Given the description of an element on the screen output the (x, y) to click on. 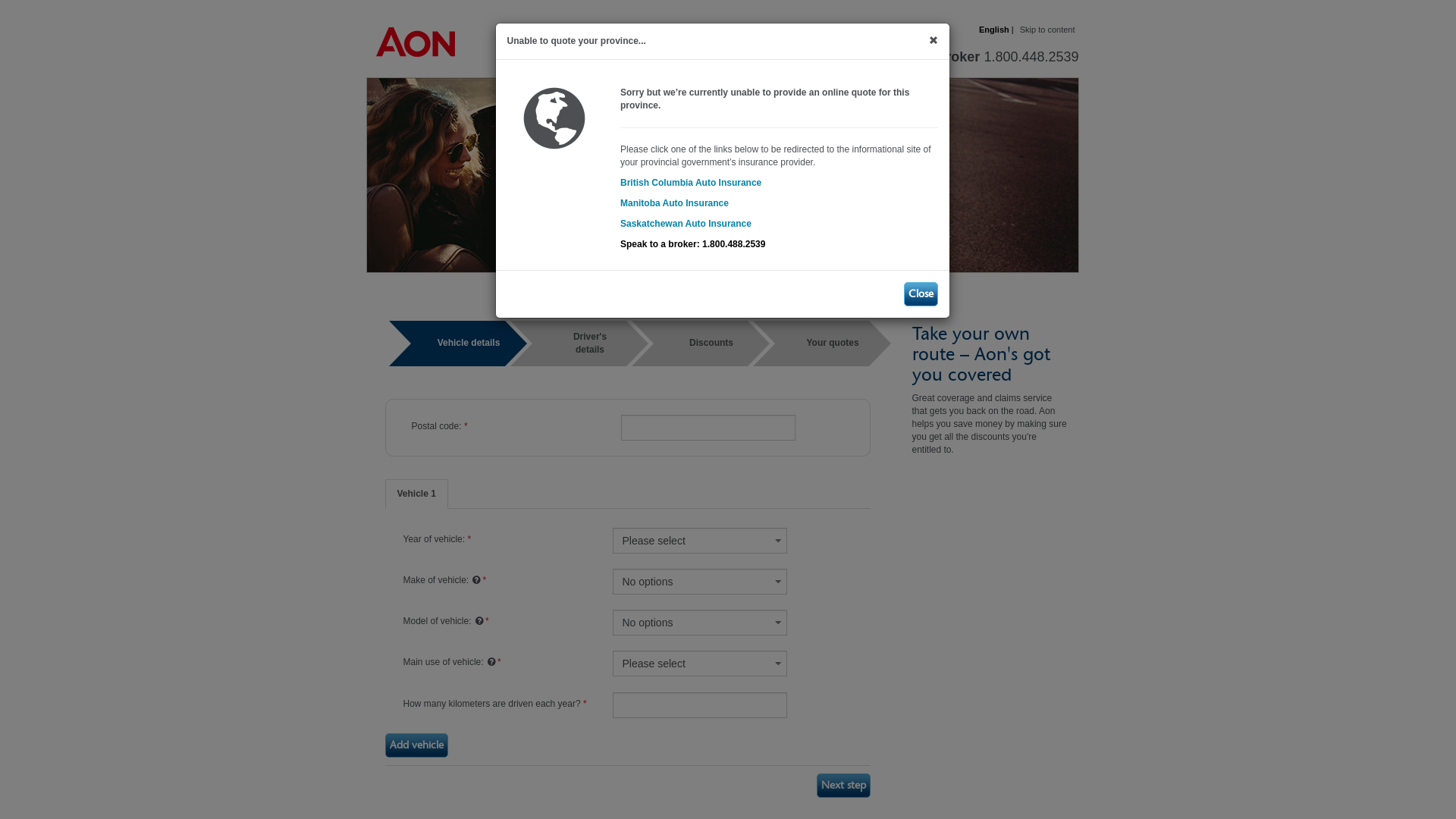
Manitoba Auto Insurance Element type: text (674, 202)
Saskatchewan Auto Insurance Element type: text (685, 223)
Close Element type: text (920, 294)
Skip to content Element type: text (1047, 29)
Next step Element type: text (842, 785)
  Aon logo Element type: text (410, 20)
Vehicle 1 Element type: text (416, 493)
Add vehicle Element type: text (416, 745)
1.800.488.2539 Element type: text (732, 243)
British Columbia Auto Insurance Element type: text (690, 182)
Speak to a broker 1.800.448.2539 Element type: text (971, 56)
